Given the description of an element on the screen output the (x, y) to click on. 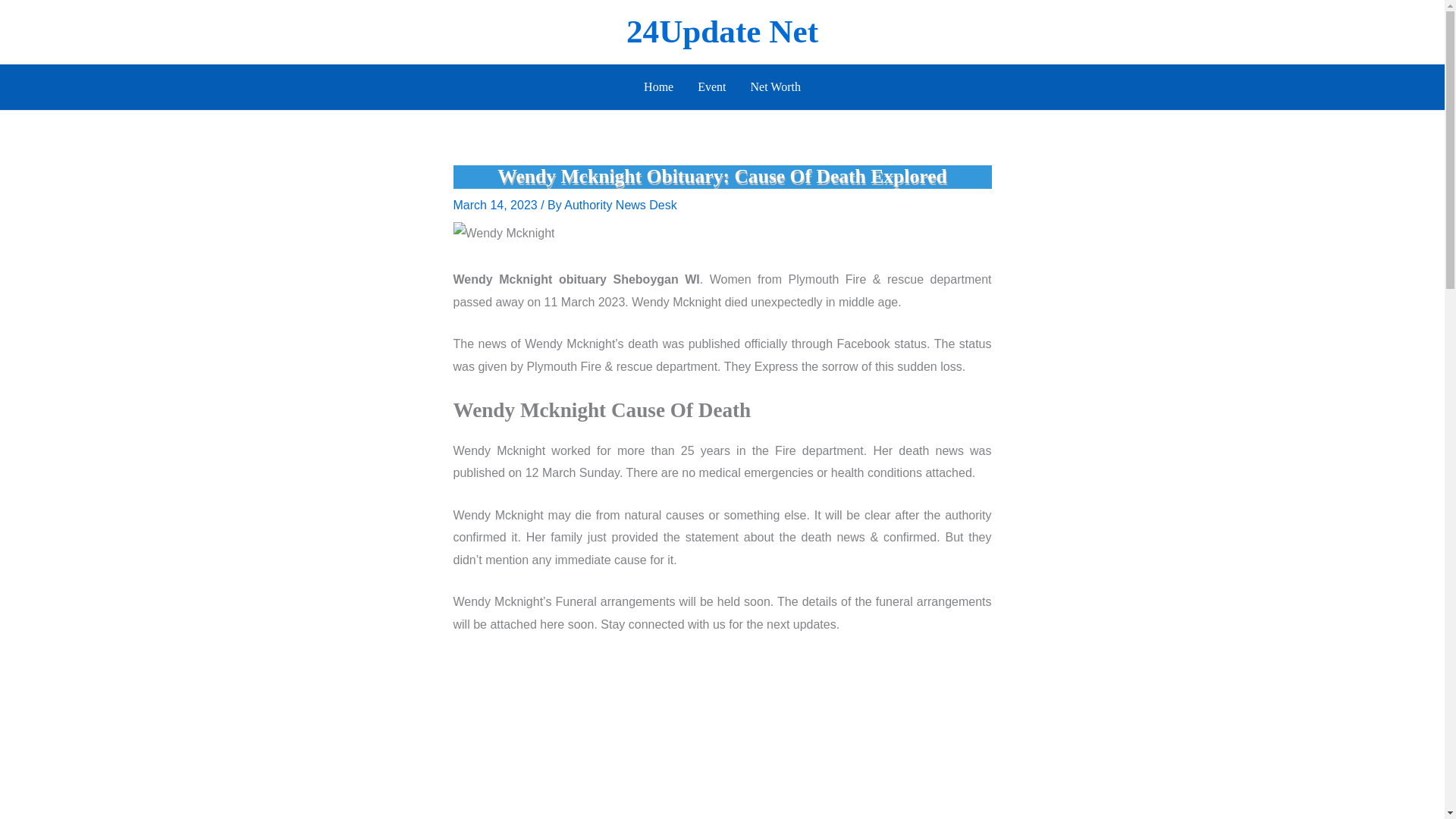
Event (711, 86)
Home (658, 86)
Net Worth (775, 86)
24Update Net (722, 31)
Authority News Desk (620, 205)
View all posts by Authority News Desk (620, 205)
